Given the description of an element on the screen output the (x, y) to click on. 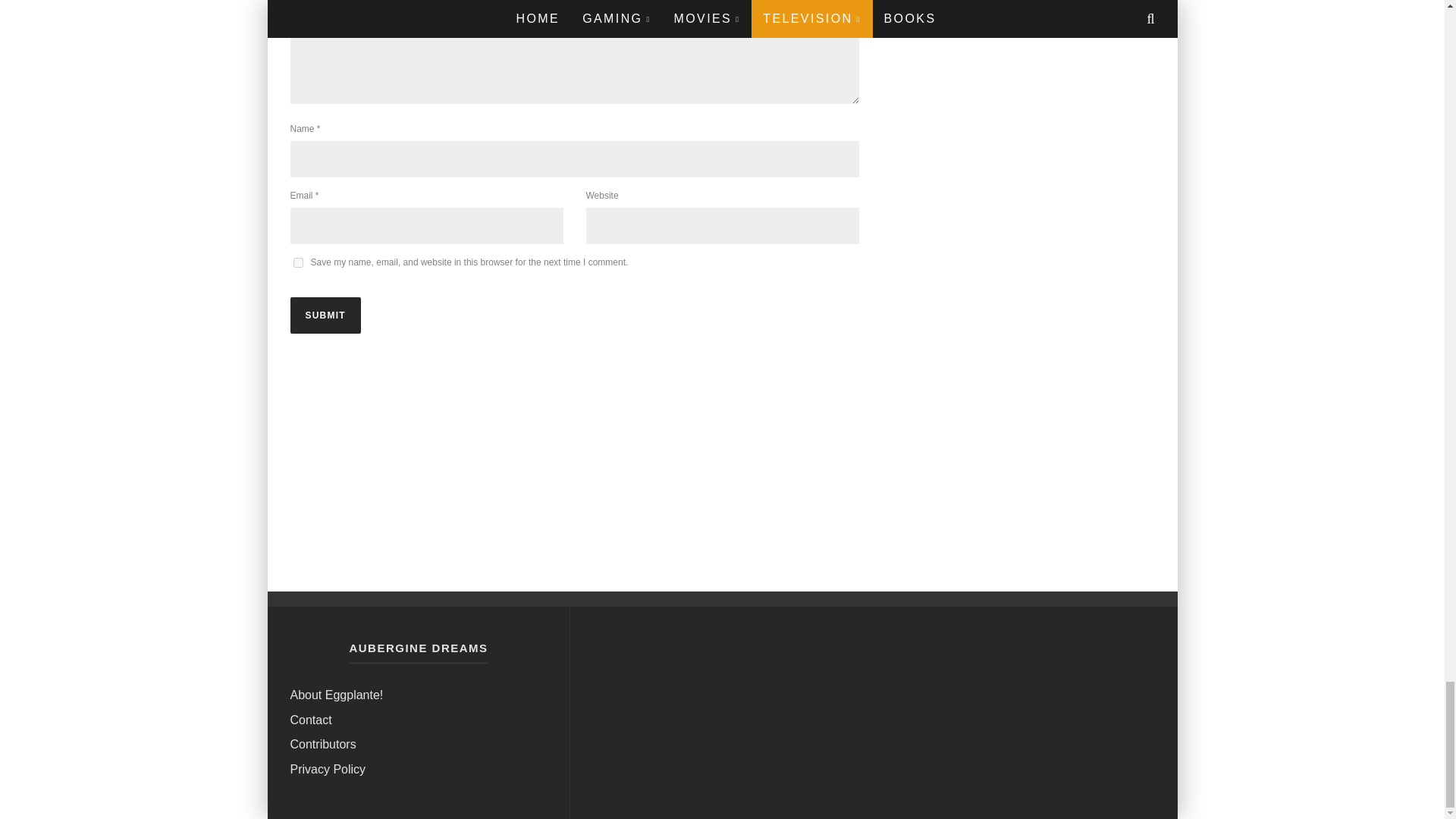
Submit (324, 315)
yes (297, 262)
